Given the description of an element on the screen output the (x, y) to click on. 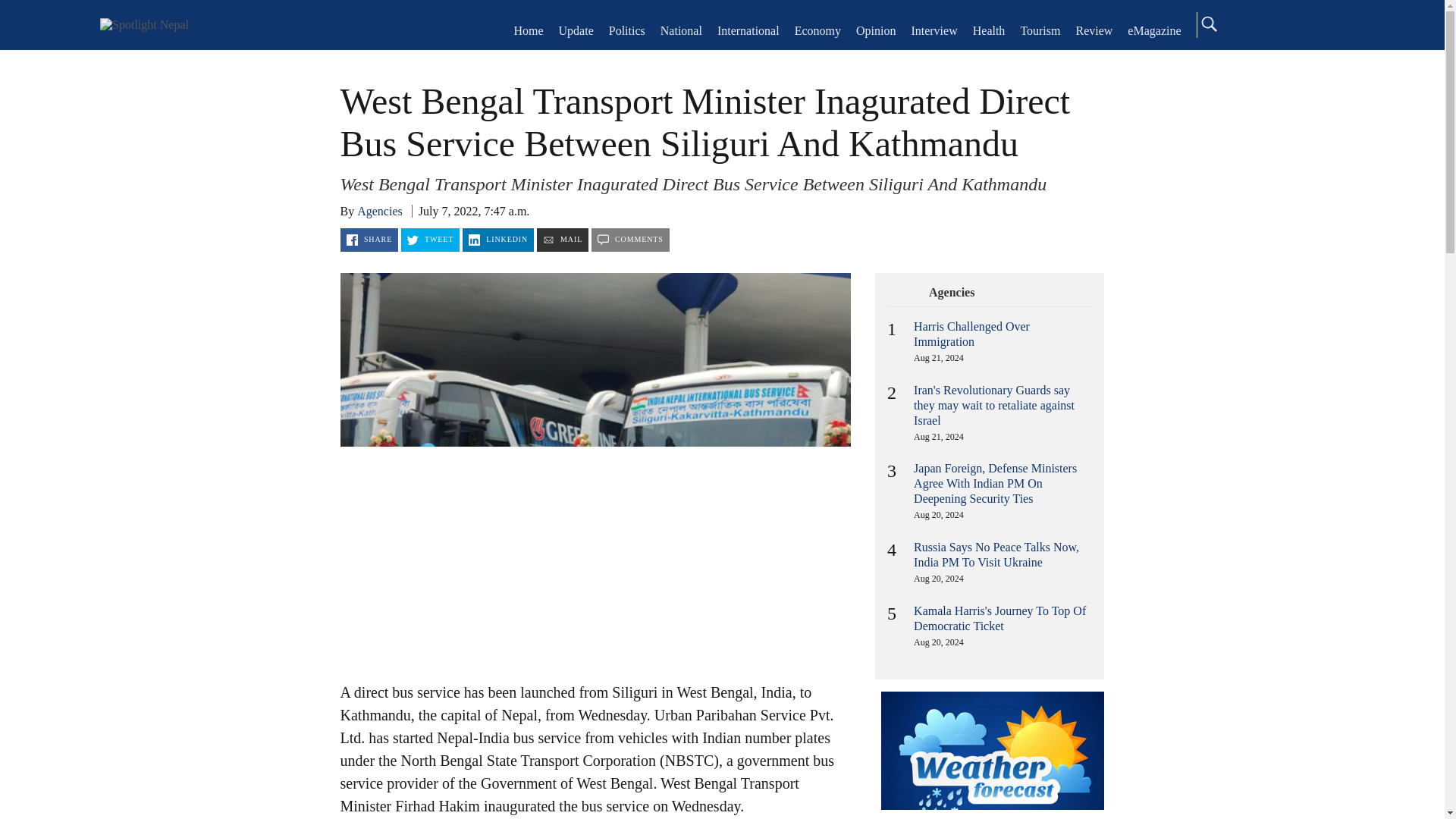
Update (576, 30)
Harris Challenged Over Immigration (971, 334)
Interview (933, 30)
National (681, 30)
Politics (626, 30)
Home (144, 24)
MAIL (563, 239)
eMagazine (1153, 30)
Tourism (1039, 30)
COMMENTS (630, 239)
